Given the description of an element on the screen output the (x, y) to click on. 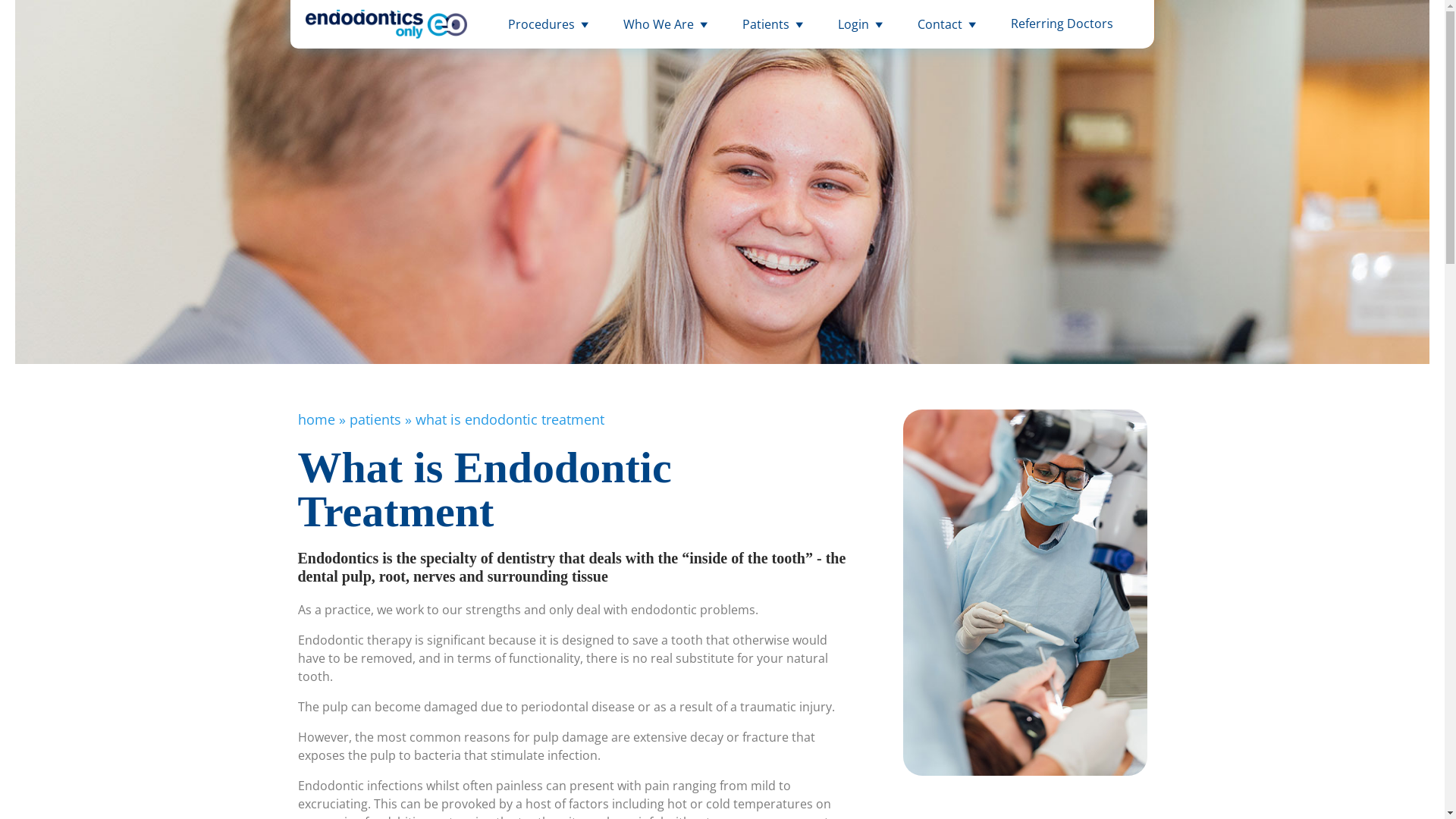
Contact Element type: text (948, 23)
Referring Doctors Element type: text (1061, 23)
Patients Element type: text (774, 23)
Login Element type: text (862, 23)
home Element type: text (315, 419)
Who We Are Element type: text (667, 23)
Procedures Element type: text (550, 23)
patients Element type: text (374, 419)
